Given the description of an element on the screen output the (x, y) to click on. 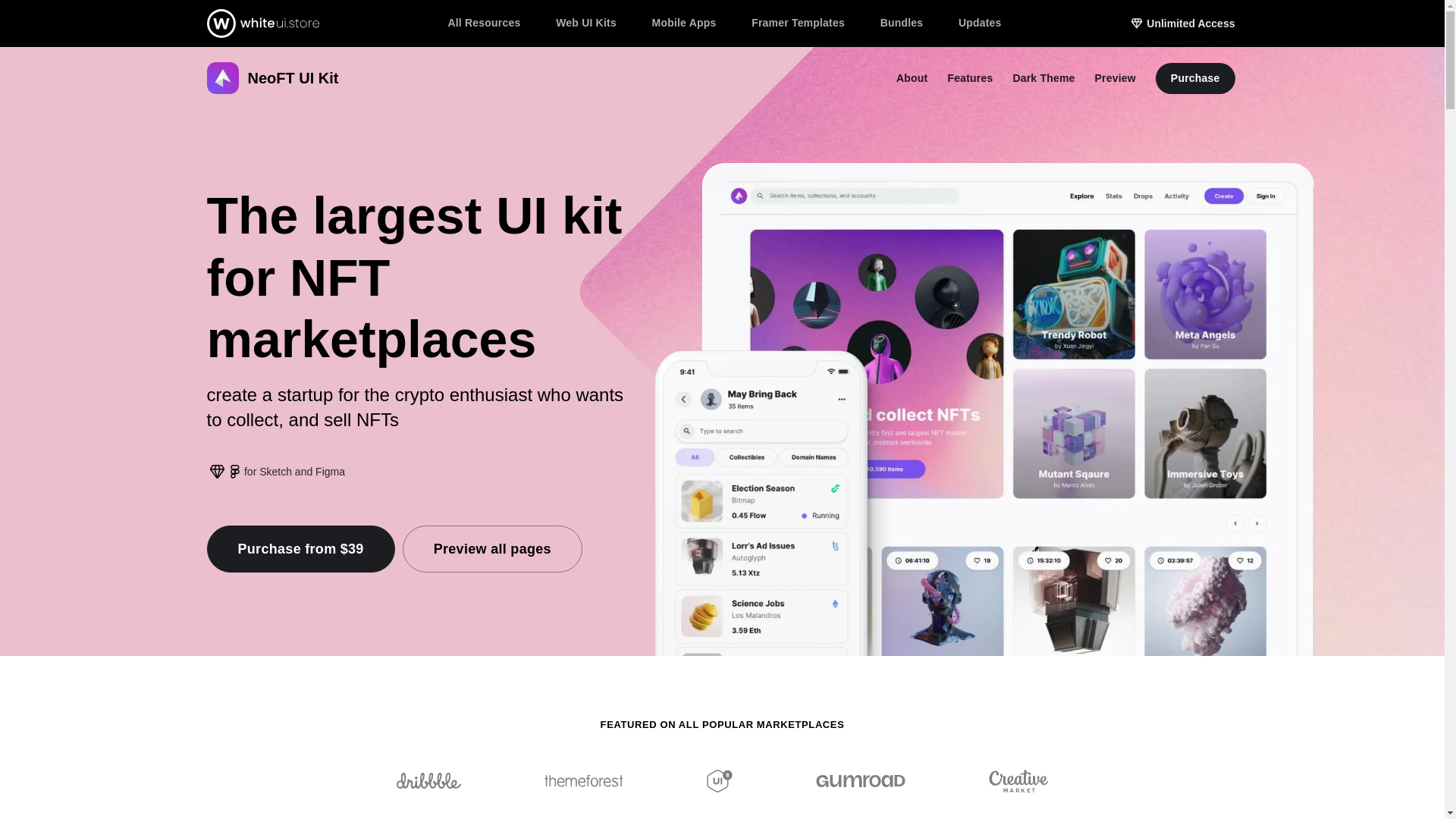
Updates (980, 22)
Features (970, 77)
About (912, 77)
Dark Theme (1043, 77)
Bundles (902, 22)
Preview (1115, 77)
NeoFT UI Kit (271, 78)
Unlimited Access (1181, 23)
All Resources (483, 22)
Framer Templates (798, 22)
Web UI Kits (586, 22)
Purchase (1195, 77)
Mobile Apps (684, 22)
Preview all pages (492, 548)
